Given the description of an element on the screen output the (x, y) to click on. 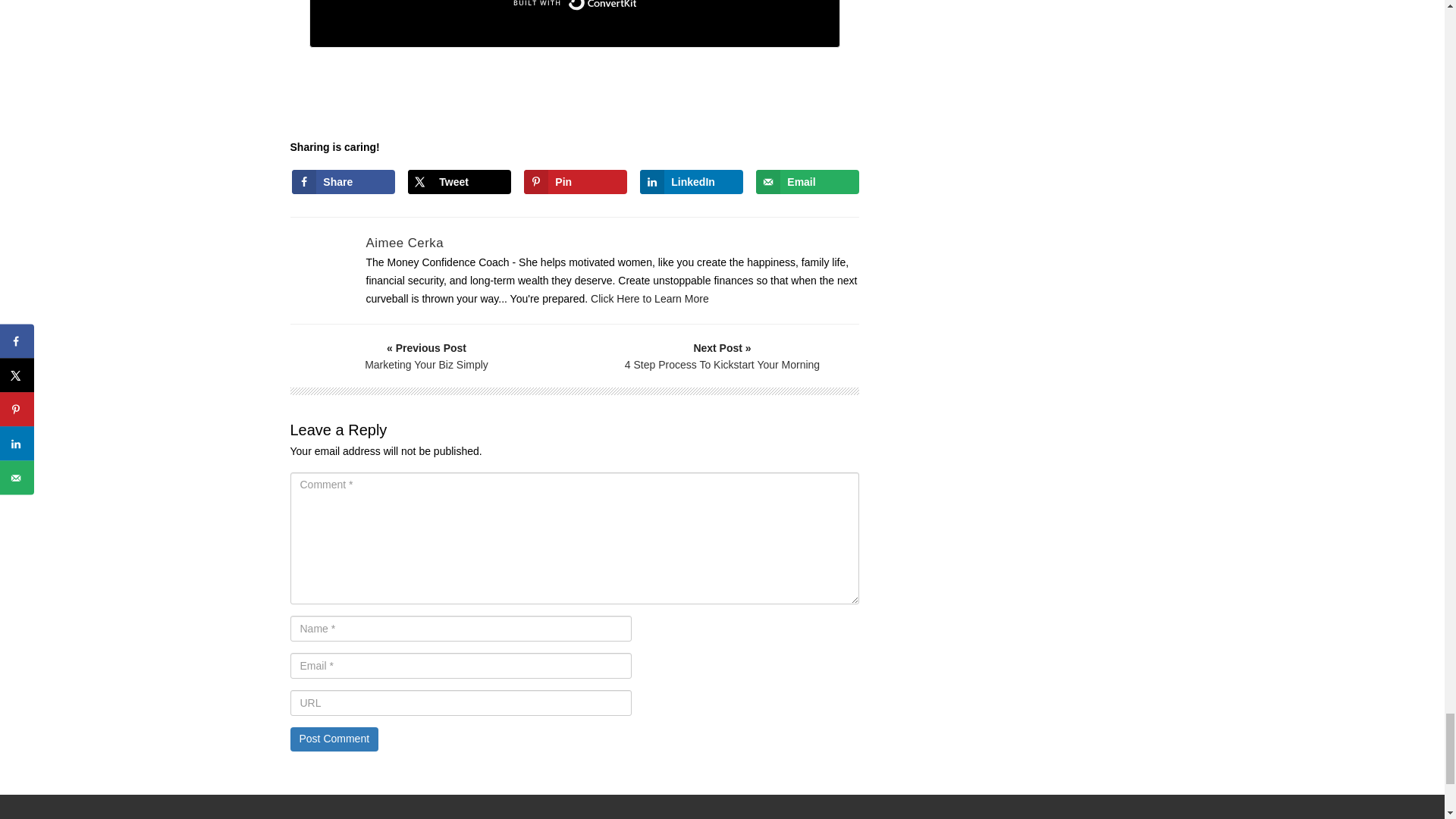
Share on X (459, 181)
Send over email (807, 181)
Share on LinkedIn (691, 181)
Post Comment (333, 739)
Save to Pinterest (575, 181)
Share on Facebook (343, 181)
Marketing Your Biz Simply (427, 355)
